Given the description of an element on the screen output the (x, y) to click on. 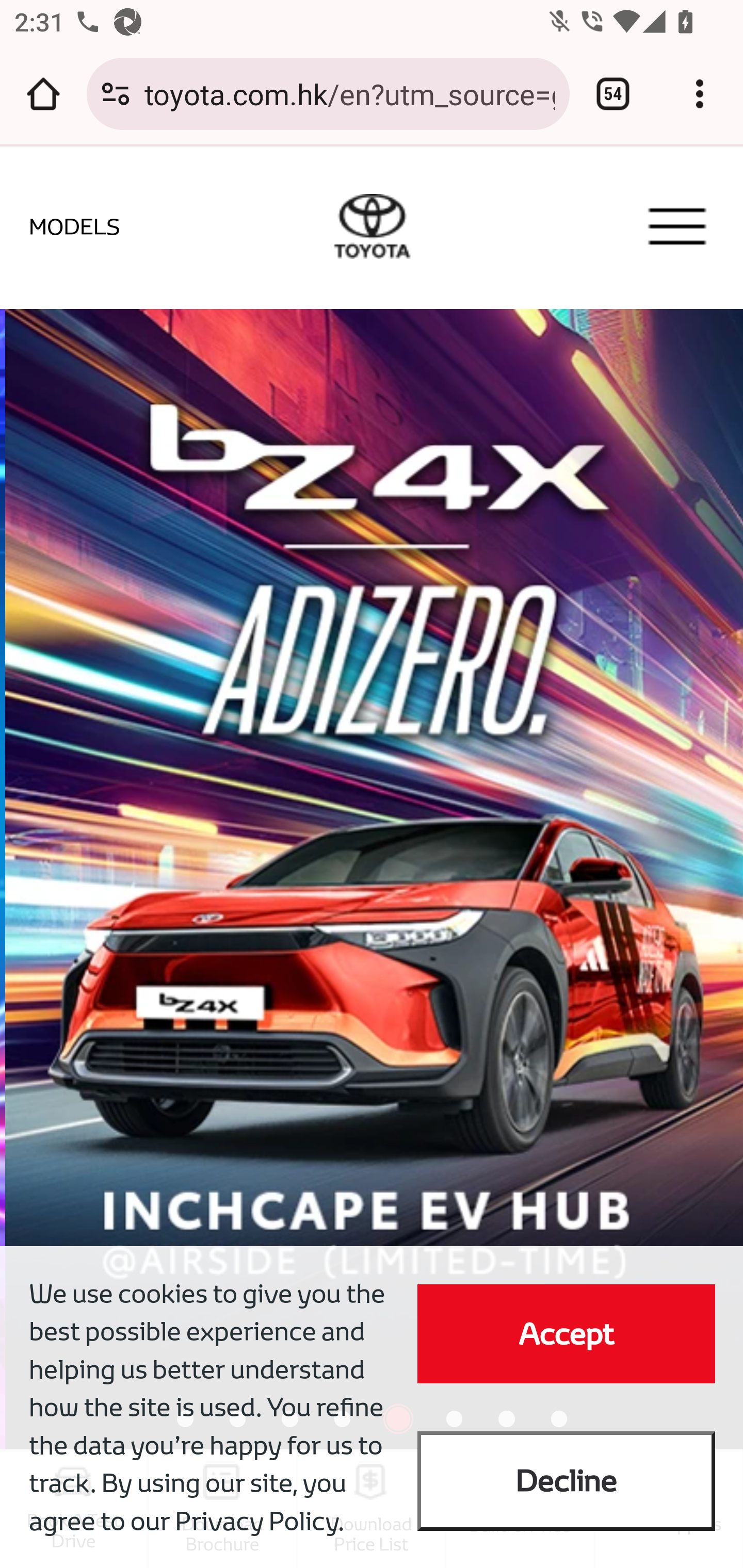
Open the home page (43, 93)
Connection is secure (115, 93)
Switch or close tabs (612, 93)
Customize and control Google Chrome (699, 93)
Toyota Logo (371, 226)
Toggle navigation (676, 226)
MODELS (60, 226)
Accept (565, 1333)
Decline (565, 1480)
Privacy Policy (256, 1520)
